Given the description of an element on the screen output the (x, y) to click on. 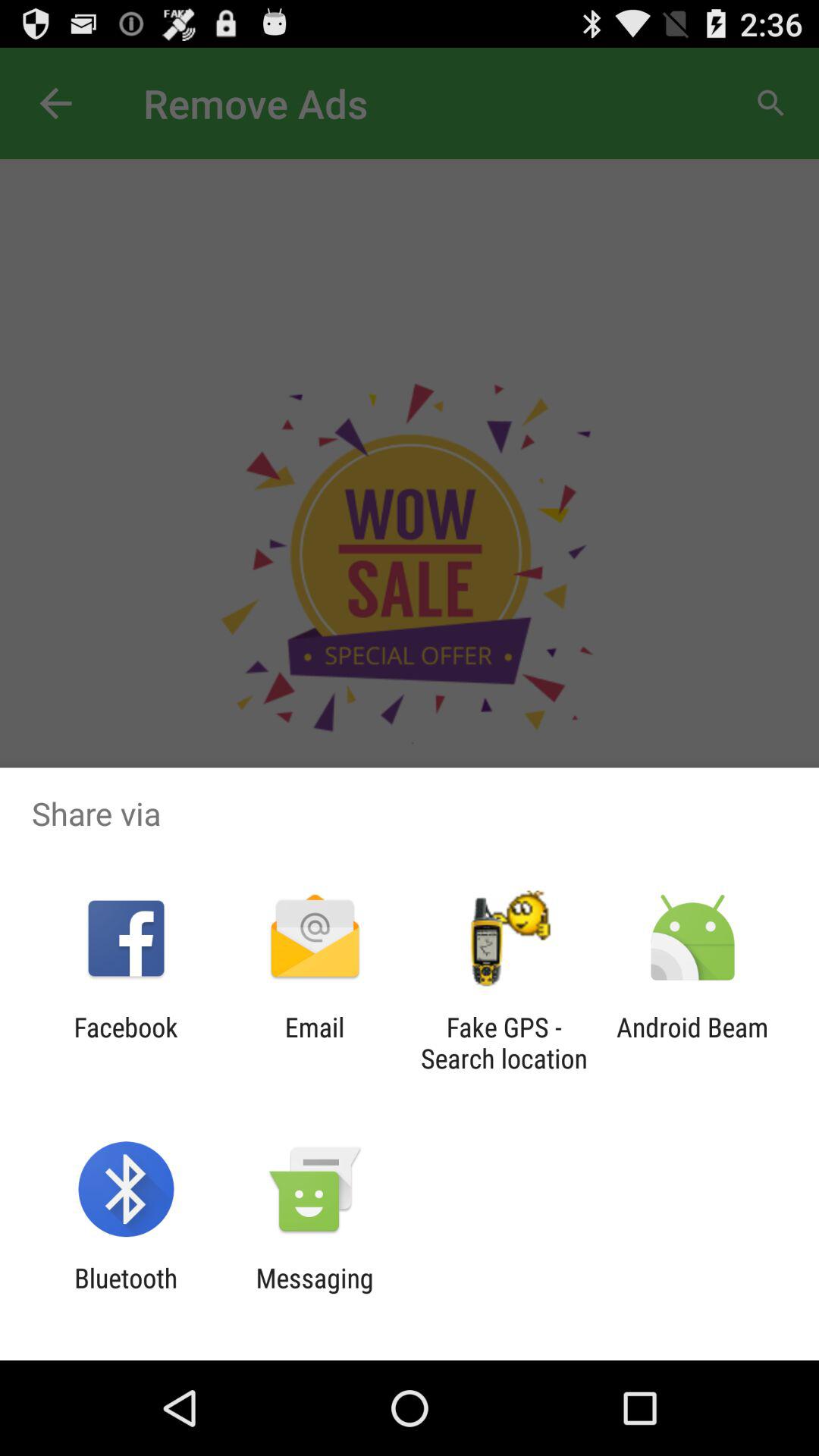
swipe to bluetooth item (125, 1293)
